Given the description of an element on the screen output the (x, y) to click on. 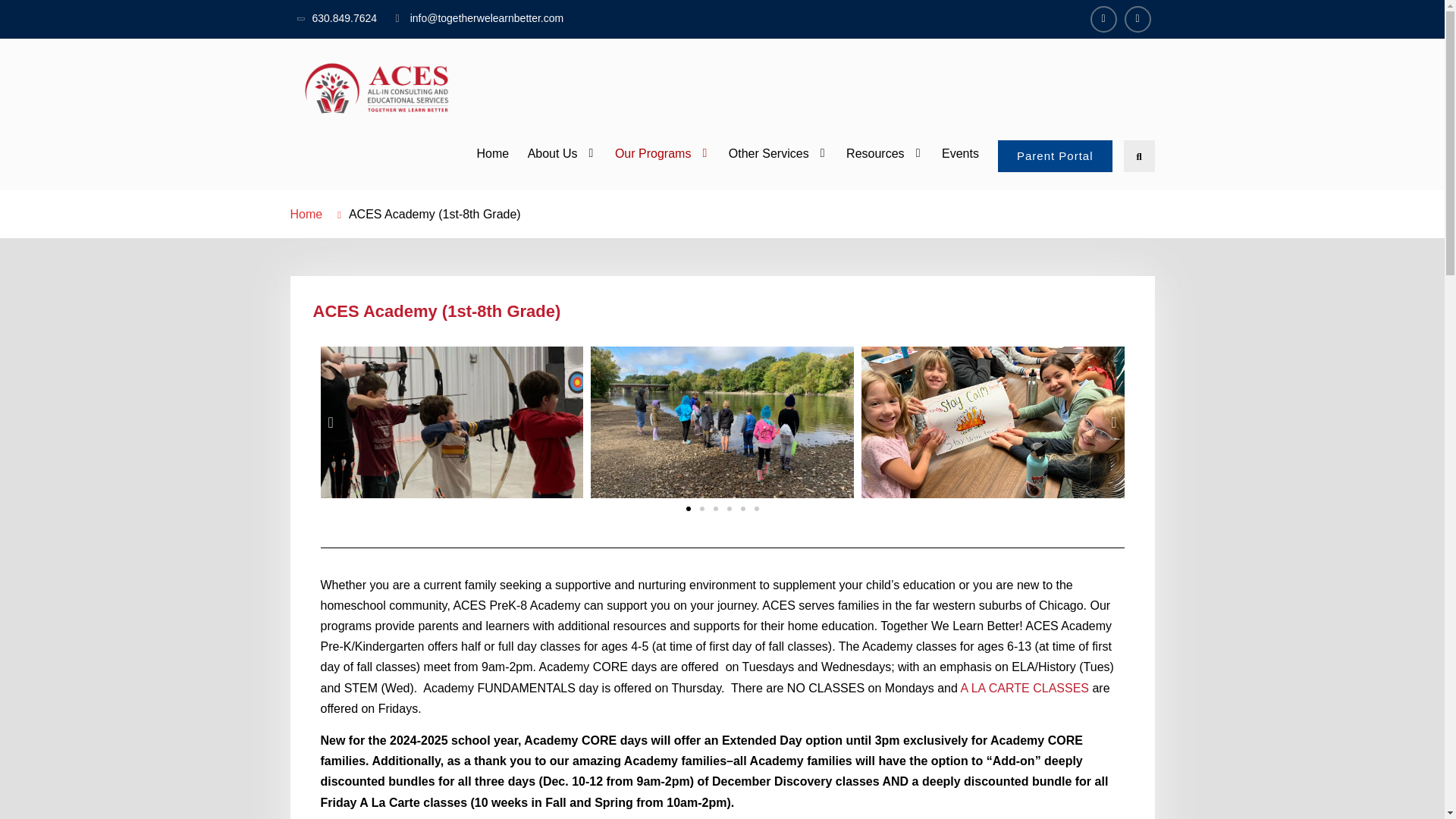
About Us (561, 153)
Home (492, 153)
Parent Portal (1054, 155)
Events (960, 153)
630.849.7624 (345, 18)
Resources (884, 153)
Other Services (777, 153)
Our Programs (662, 153)
A LA CARTE CLASSES (1024, 687)
Home (305, 214)
